Given the description of an element on the screen output the (x, y) to click on. 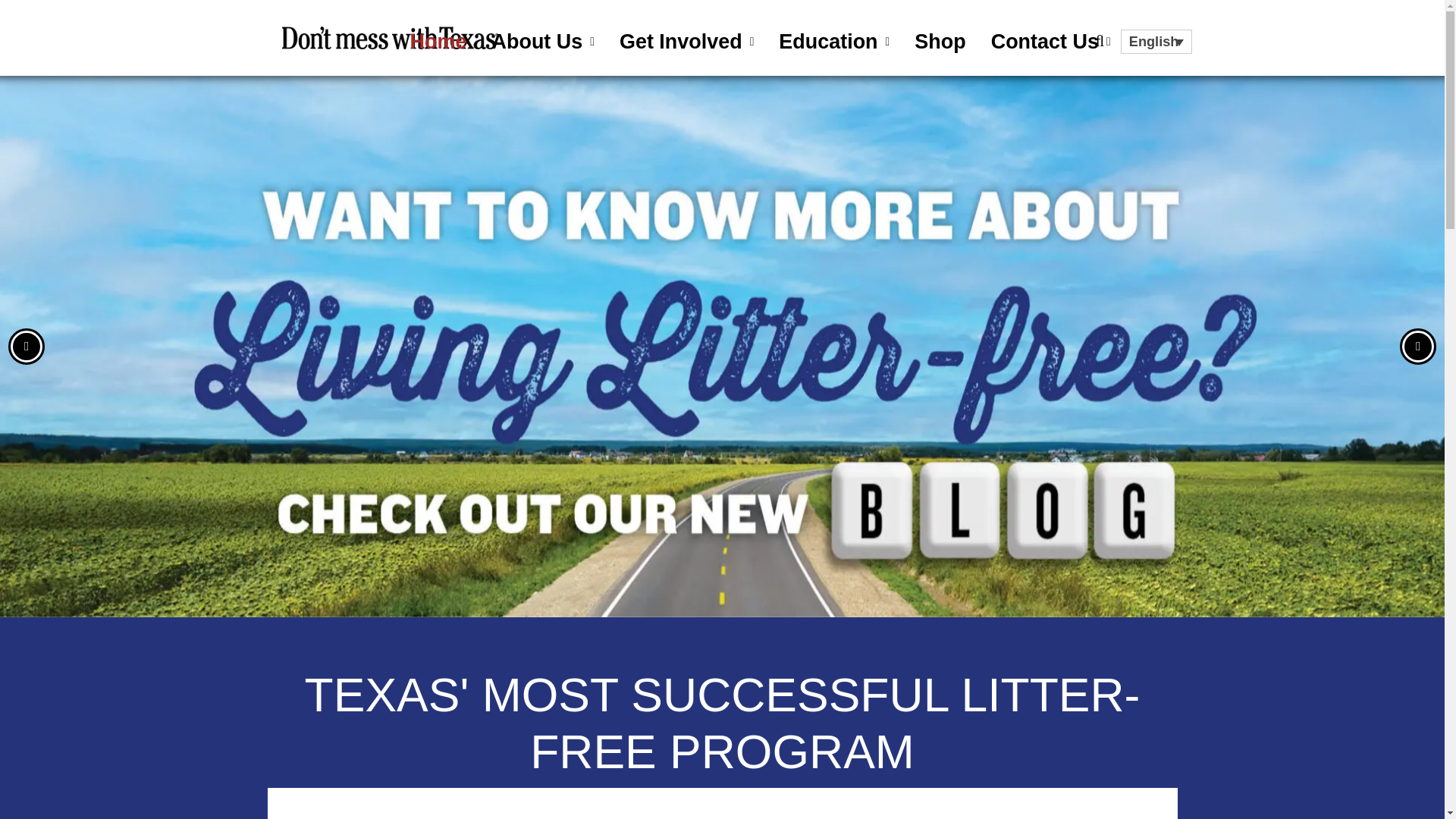
Contact Us (1050, 41)
English (1156, 41)
Home (438, 41)
Education (834, 41)
Get Involved (686, 41)
Shop (940, 41)
About Us (543, 41)
